Given the description of an element on the screen output the (x, y) to click on. 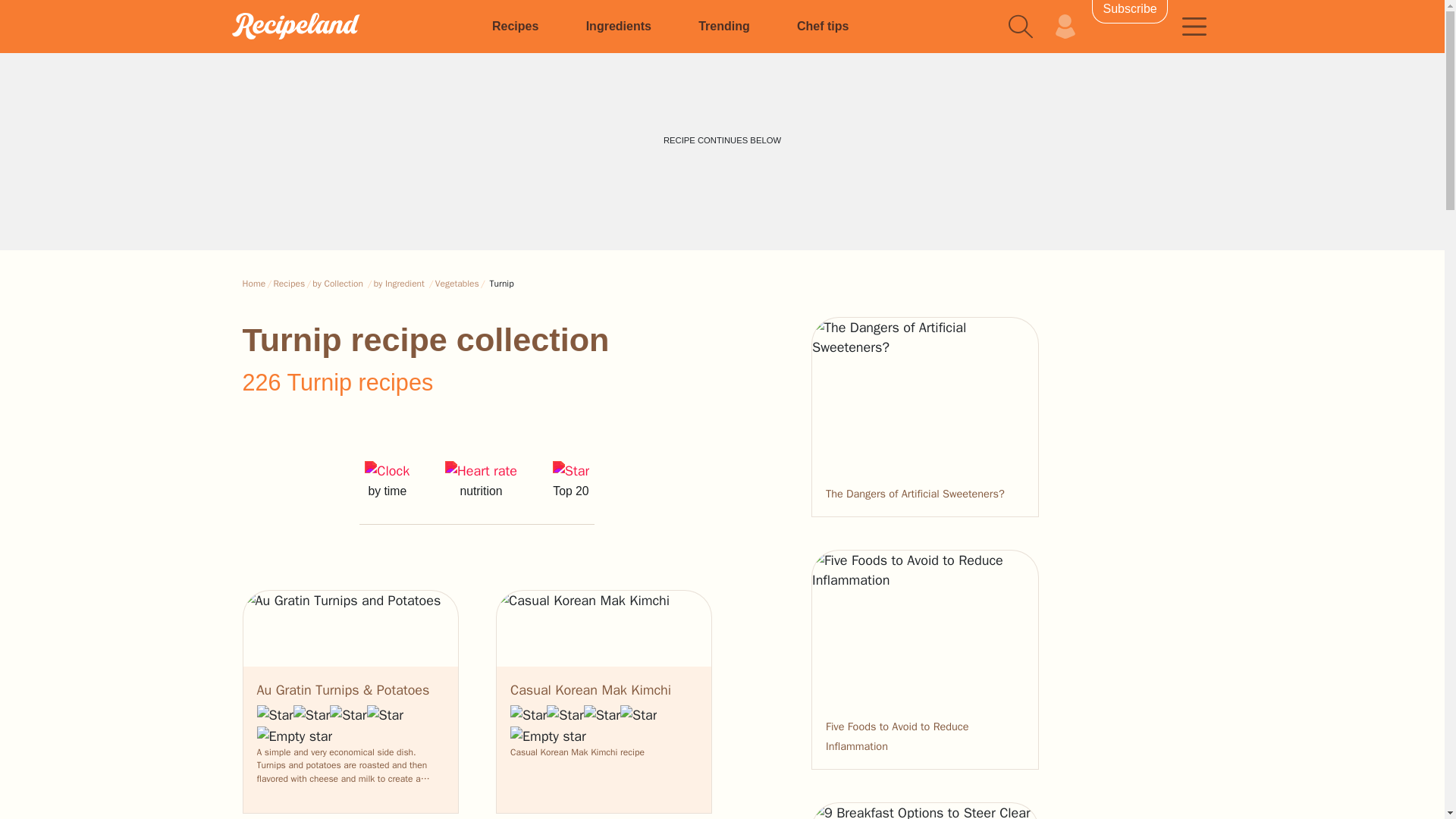
Ingredients (618, 26)
Toggle menu (1194, 26)
Subscribe (1129, 11)
Chef tips (822, 26)
All recipes (515, 26)
Recipes (349, 26)
Recipes by ingredient (618, 26)
Join or sign in (1064, 26)
Recipe and cooking how to (822, 26)
Find recipes (1021, 26)
